Given the description of an element on the screen output the (x, y) to click on. 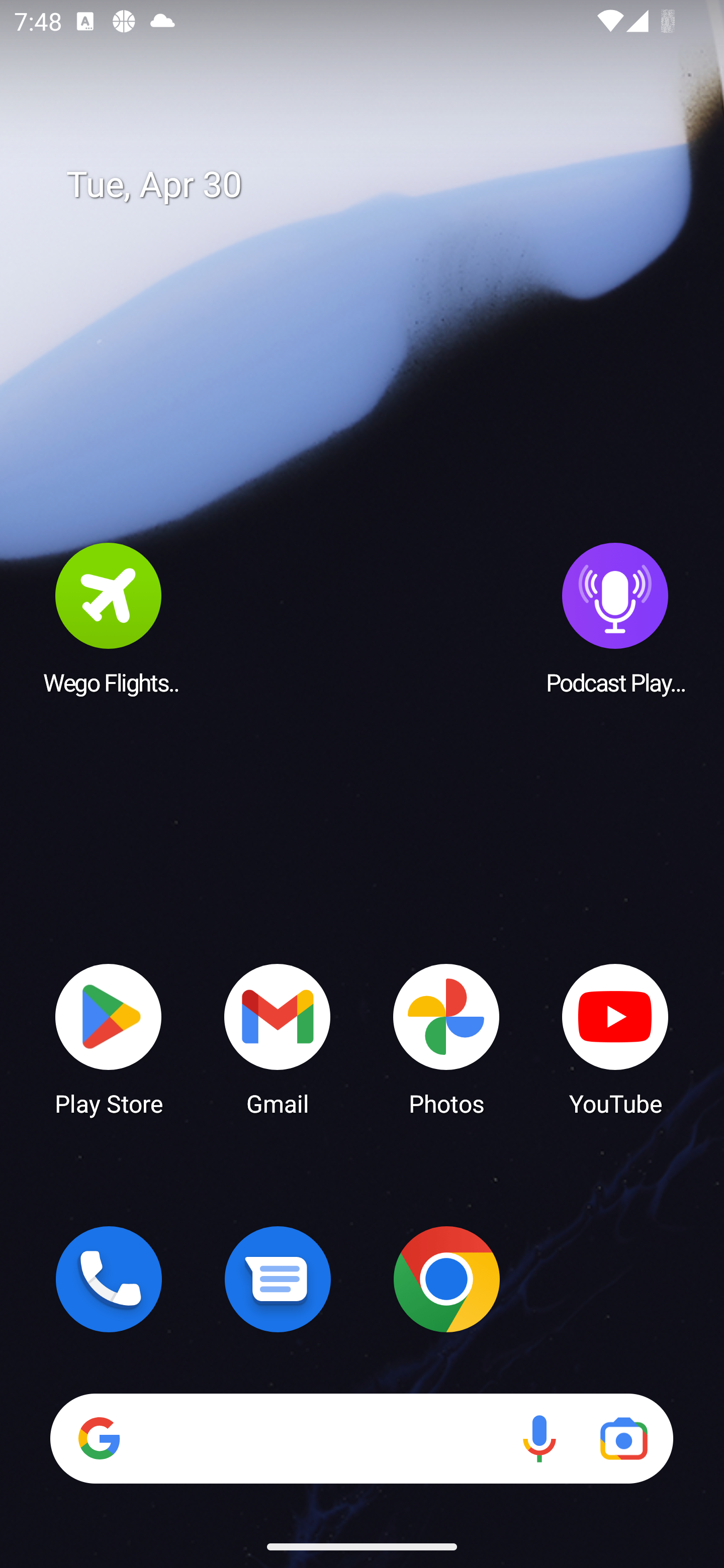
Tue, Apr 30 (375, 184)
Wego Flights & Hotels (108, 617)
Podcast Player (615, 617)
Play Store (108, 1038)
Gmail (277, 1038)
Photos (445, 1038)
YouTube (615, 1038)
Phone (108, 1279)
Messages (277, 1279)
Chrome (446, 1279)
Voice search (539, 1438)
Google Lens (623, 1438)
